Given the description of an element on the screen output the (x, y) to click on. 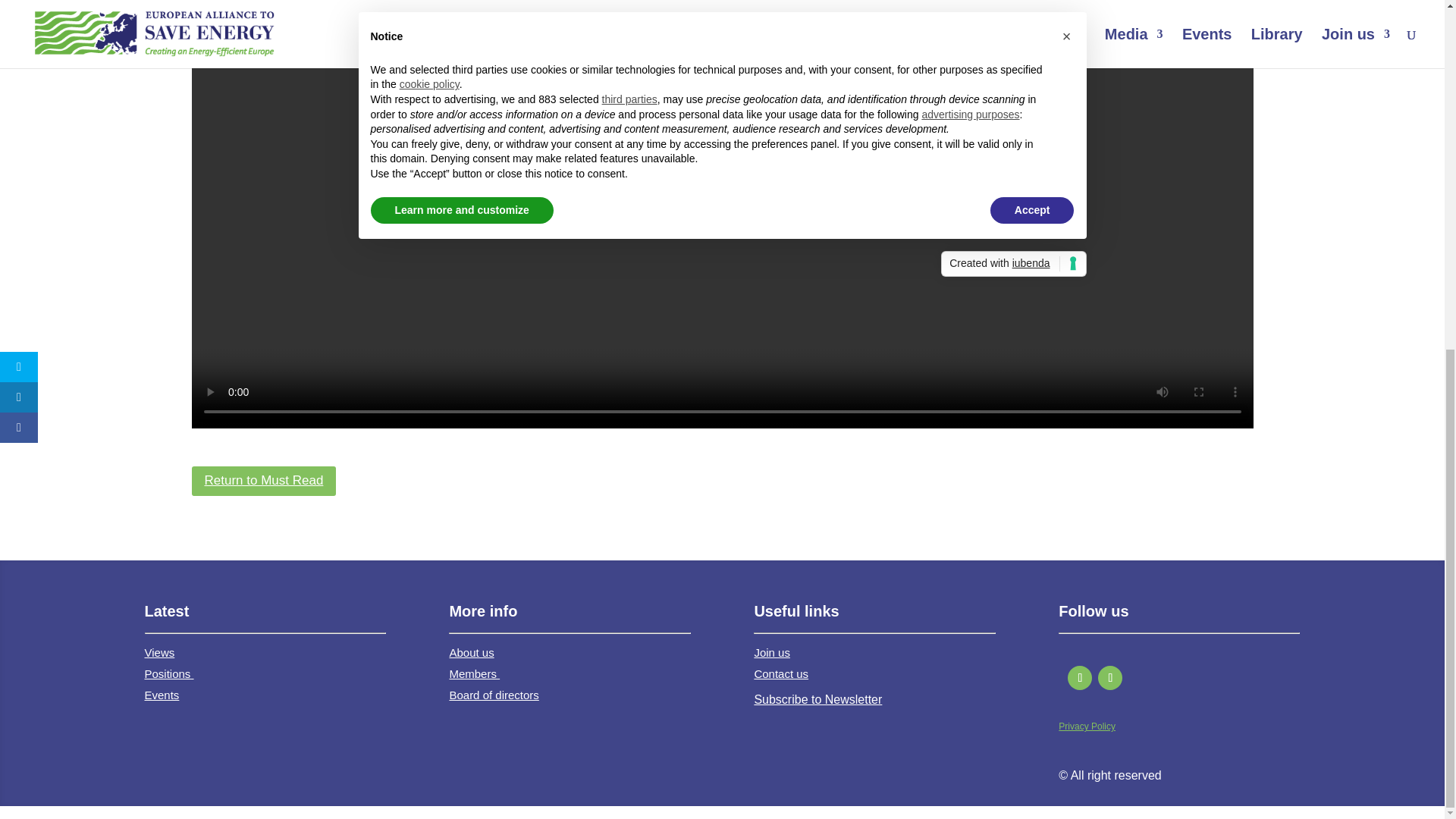
Follow on Twitter (1079, 677)
Follow on LinkedIn (1109, 677)
Privacy Policy  (1086, 726)
